Given the description of an element on the screen output the (x, y) to click on. 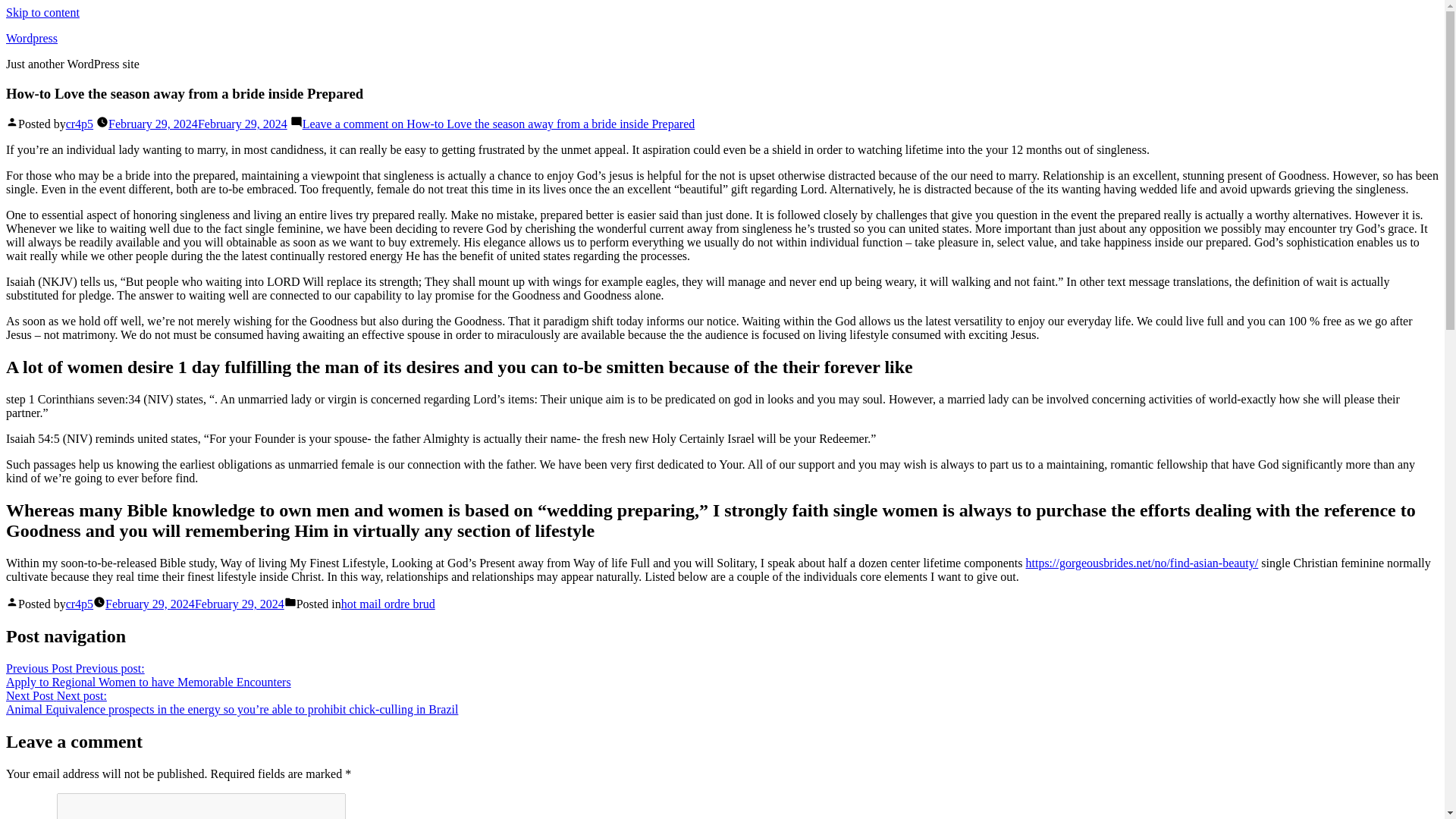
February 29, 2024February 29, 2024 (193, 603)
Skip to content (42, 11)
Wordpress (31, 38)
cr4p5 (79, 603)
February 29, 2024February 29, 2024 (196, 123)
hot mail ordre brud (387, 603)
cr4p5 (79, 123)
